Given the description of an element on the screen output the (x, y) to click on. 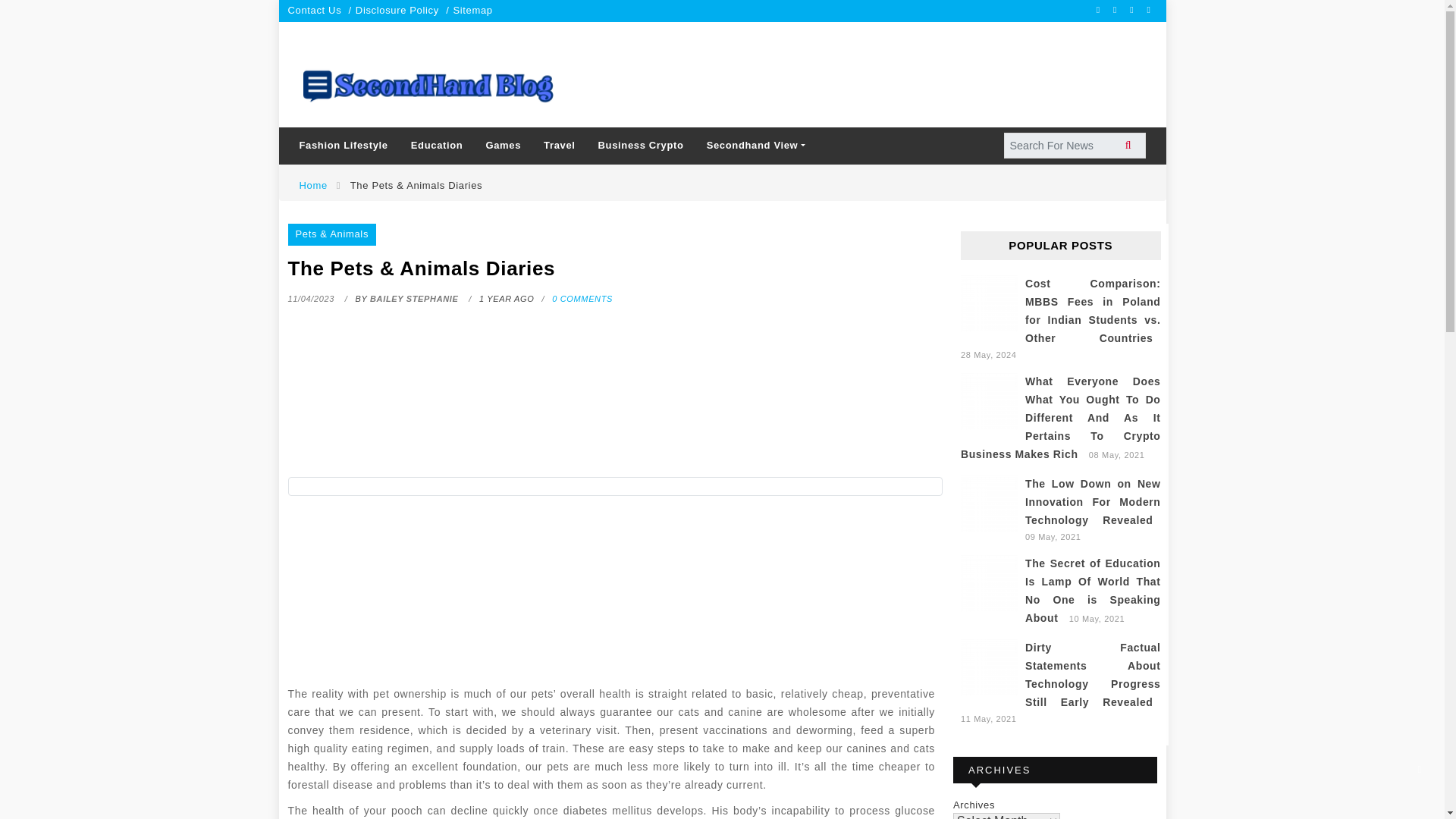
Travel (559, 145)
0 COMMENTS (581, 298)
Facebook (1099, 9)
Business Crypto (640, 145)
Fashion Lifestyle (343, 145)
BAILEY STEPHANIE (415, 298)
Go to Top (1419, 769)
Contact Us (315, 9)
Home (312, 185)
